Given the description of an element on the screen output the (x, y) to click on. 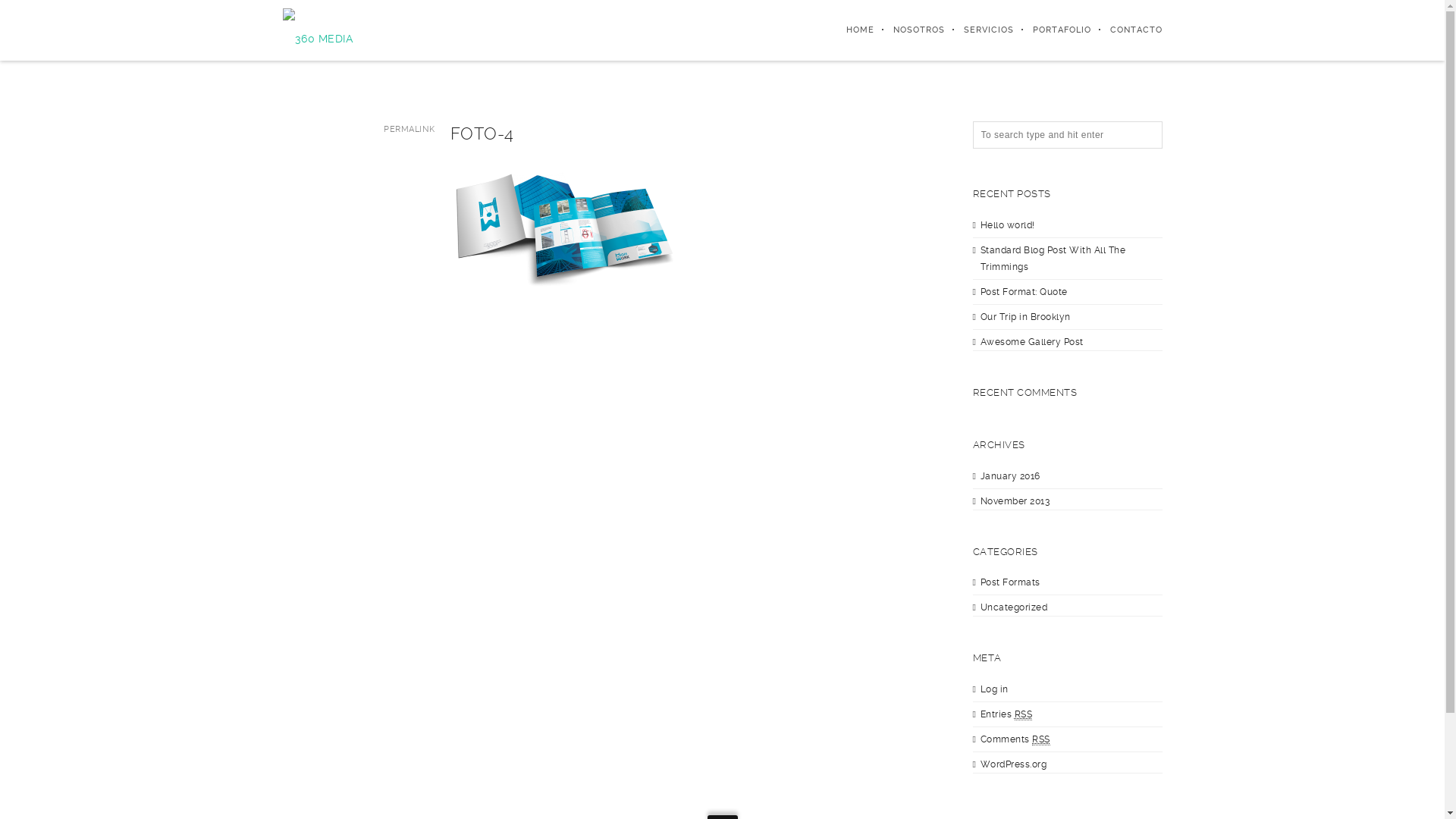
Our Trip in Brooklyn Element type: text (1024, 315)
Search Element type: text (28, 11)
Standard Blog Post With All The Trimmings Element type: text (1052, 257)
PERMALINK Element type: text (409, 129)
November 2013 Element type: text (1014, 500)
WordPress.org Element type: text (1012, 763)
January 2016 Element type: text (1009, 475)
Comments RSS Element type: text (1014, 739)
CONTACTO Element type: text (1125, 30)
Uncategorized Element type: text (1013, 607)
Post Formats Element type: text (1009, 582)
SERVICIOS Element type: text (978, 30)
NOSOTROS Element type: text (908, 30)
Hello world! Element type: text (1006, 224)
Post Format: Quote Element type: text (1022, 291)
Search for: Element type: hover (1066, 134)
PORTAFOLIO Element type: text (1051, 30)
Entries RSS Element type: text (1005, 713)
Log in Element type: text (993, 689)
360 Media Element type: hover (317, 30)
HOME Element type: text (849, 30)
Awesome Gallery Post Element type: text (1030, 341)
